Given the description of an element on the screen output the (x, y) to click on. 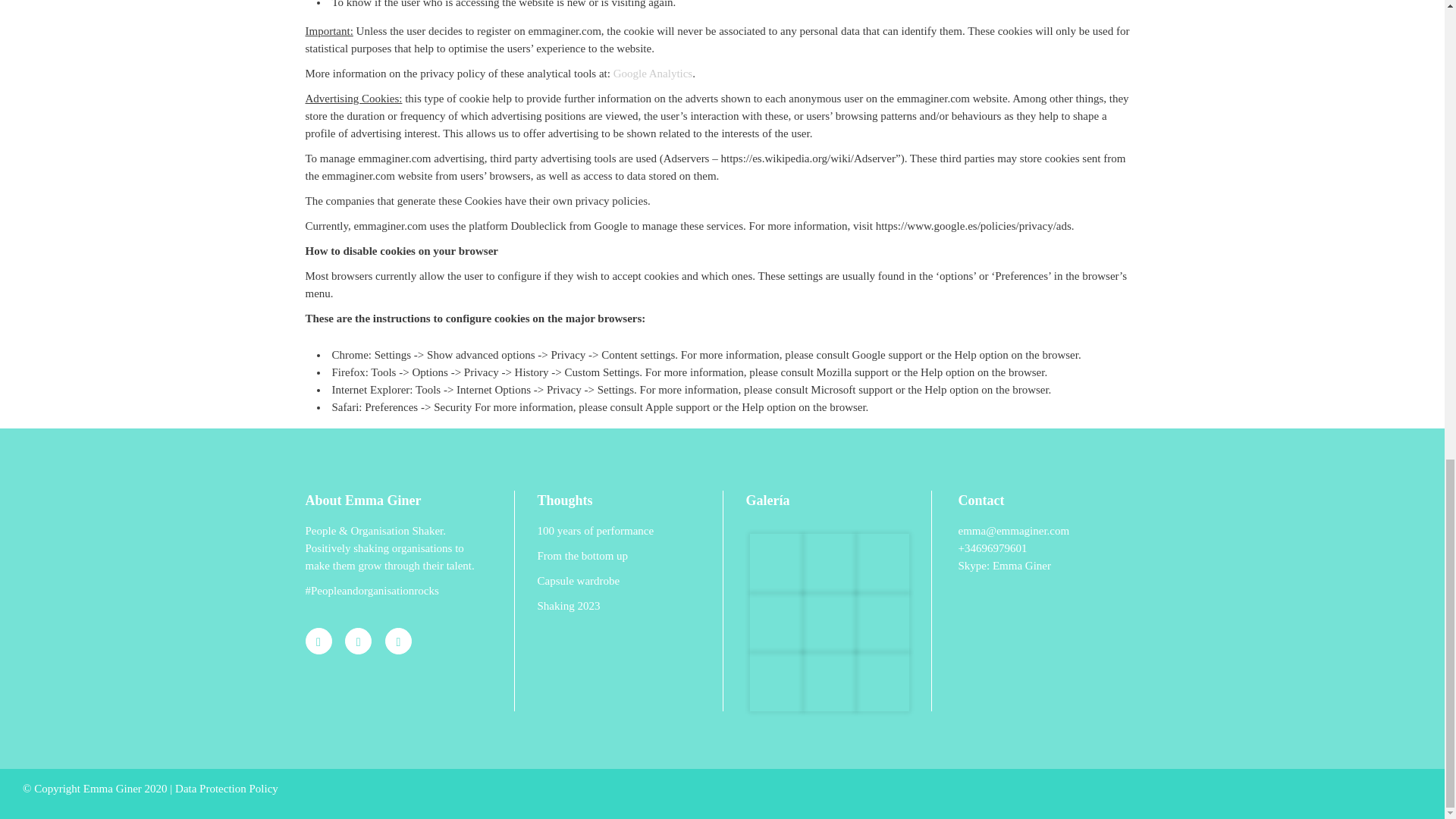
Google Analytics (652, 73)
Data Protection Policy (226, 788)
Shaking 2023 (617, 606)
From the bottom up (617, 556)
100 years of performance (617, 530)
Capsule wardrobe (617, 580)
